Given the description of an element on the screen output the (x, y) to click on. 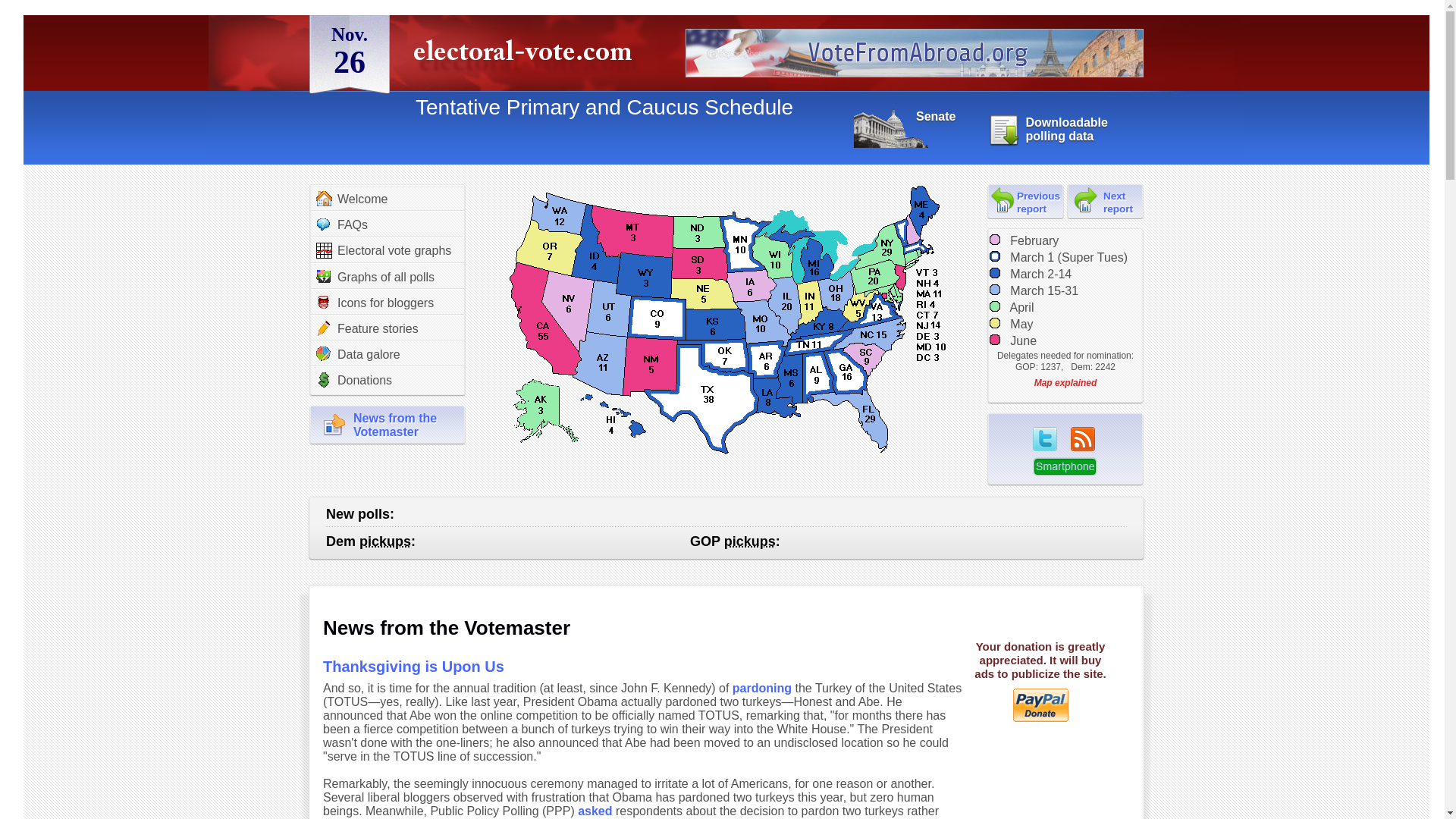
electoral-vote.com (526, 56)
Smartphone (1064, 466)
FAQs (341, 224)
Feature stories (367, 328)
Senate (904, 116)
RSS (1082, 438)
States Obama lost in 2008 where he is leading now (384, 540)
Icons for bloggers (1048, 129)
Data galore (374, 302)
Welcome (357, 353)
Graphs of all polls (351, 198)
asked (374, 276)
twitter (594, 810)
Next report (1044, 438)
